Given the description of an element on the screen output the (x, y) to click on. 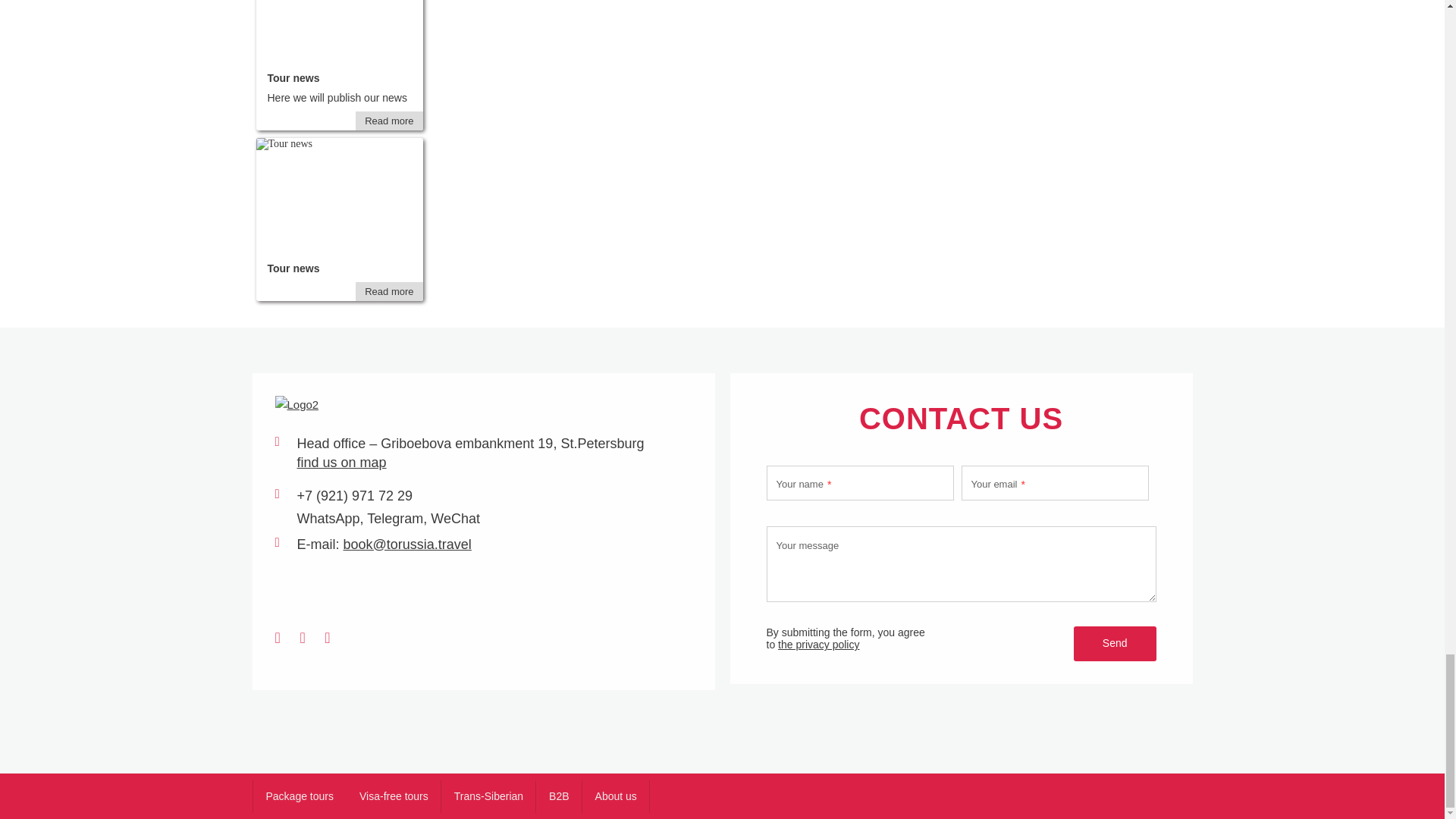
Package tours  (298, 796)
Send (1115, 643)
